Given the description of an element on the screen output the (x, y) to click on. 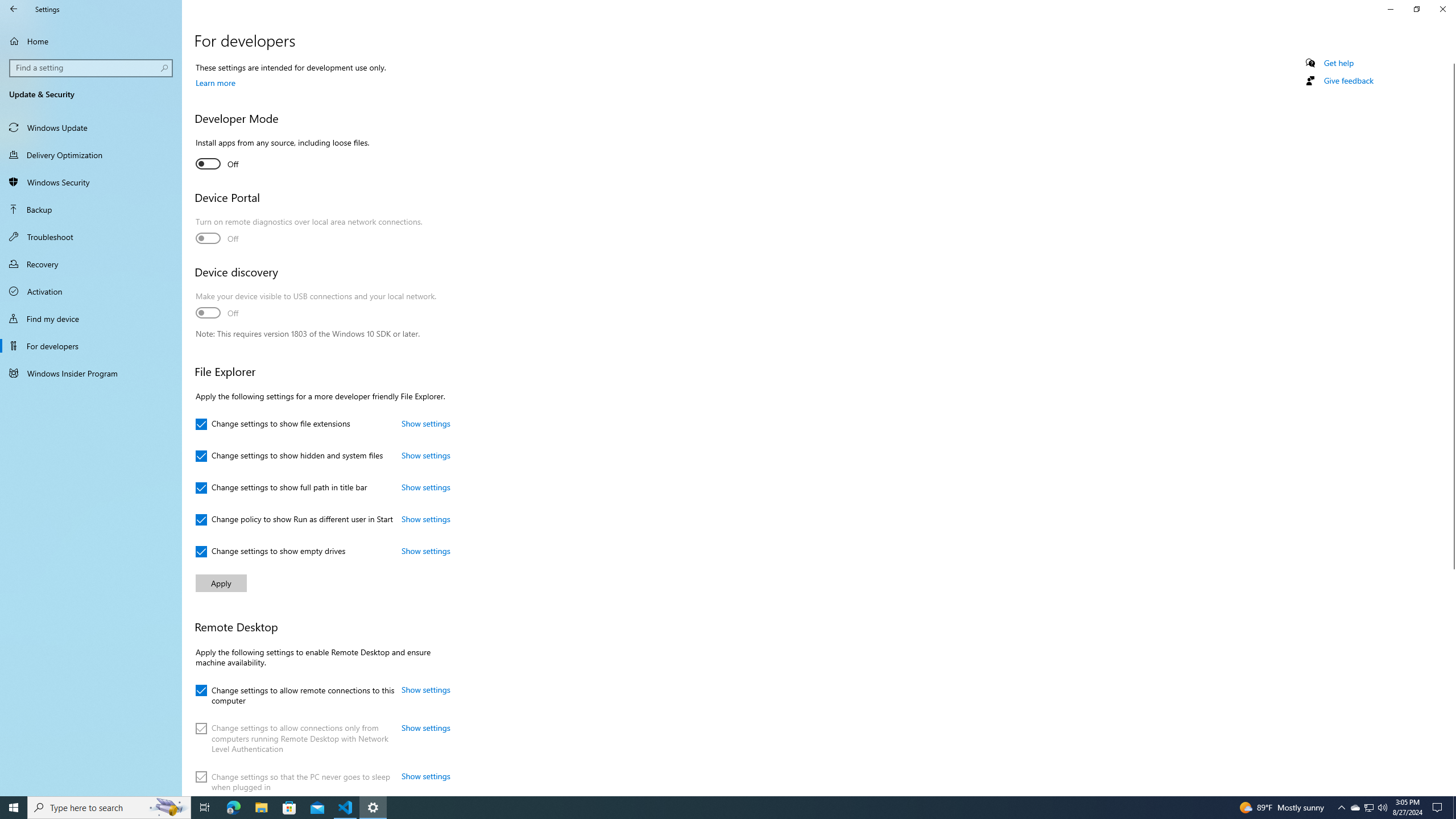
For developers (91, 345)
Running applications (717, 807)
Search box, Find a setting (91, 67)
SystemSettings_Developer_Mode_Advanced_NarratorText (216, 163)
Vertical (1451, 425)
